Given the description of an element on the screen output the (x, y) to click on. 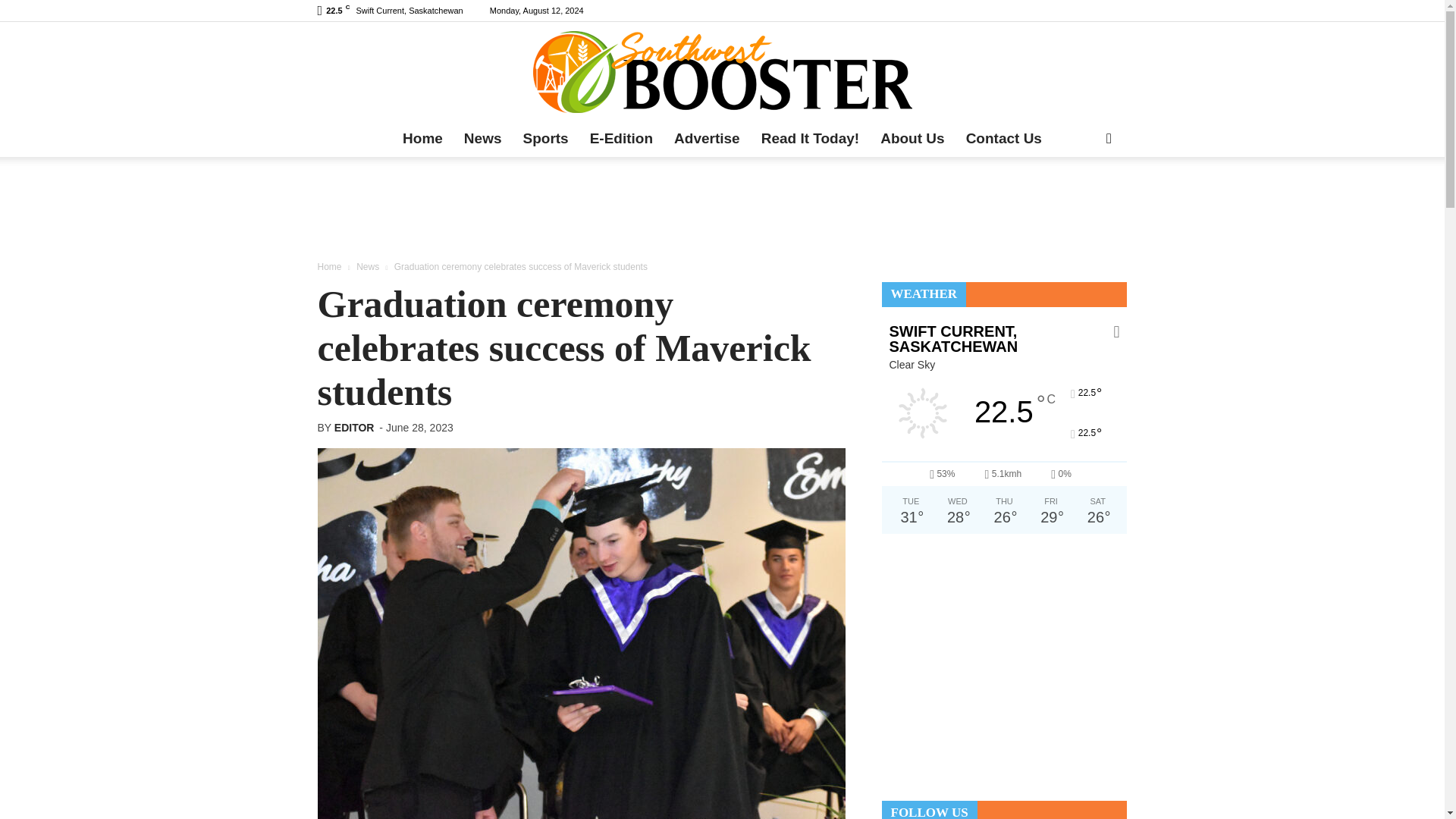
Read It Today! (810, 138)
Contact Us (1003, 138)
Sports (545, 138)
News (482, 138)
EDITOR (354, 427)
About Us (912, 138)
View all posts in News (367, 266)
News (367, 266)
E-Edition (621, 138)
Home (328, 266)
